Given the description of an element on the screen output the (x, y) to click on. 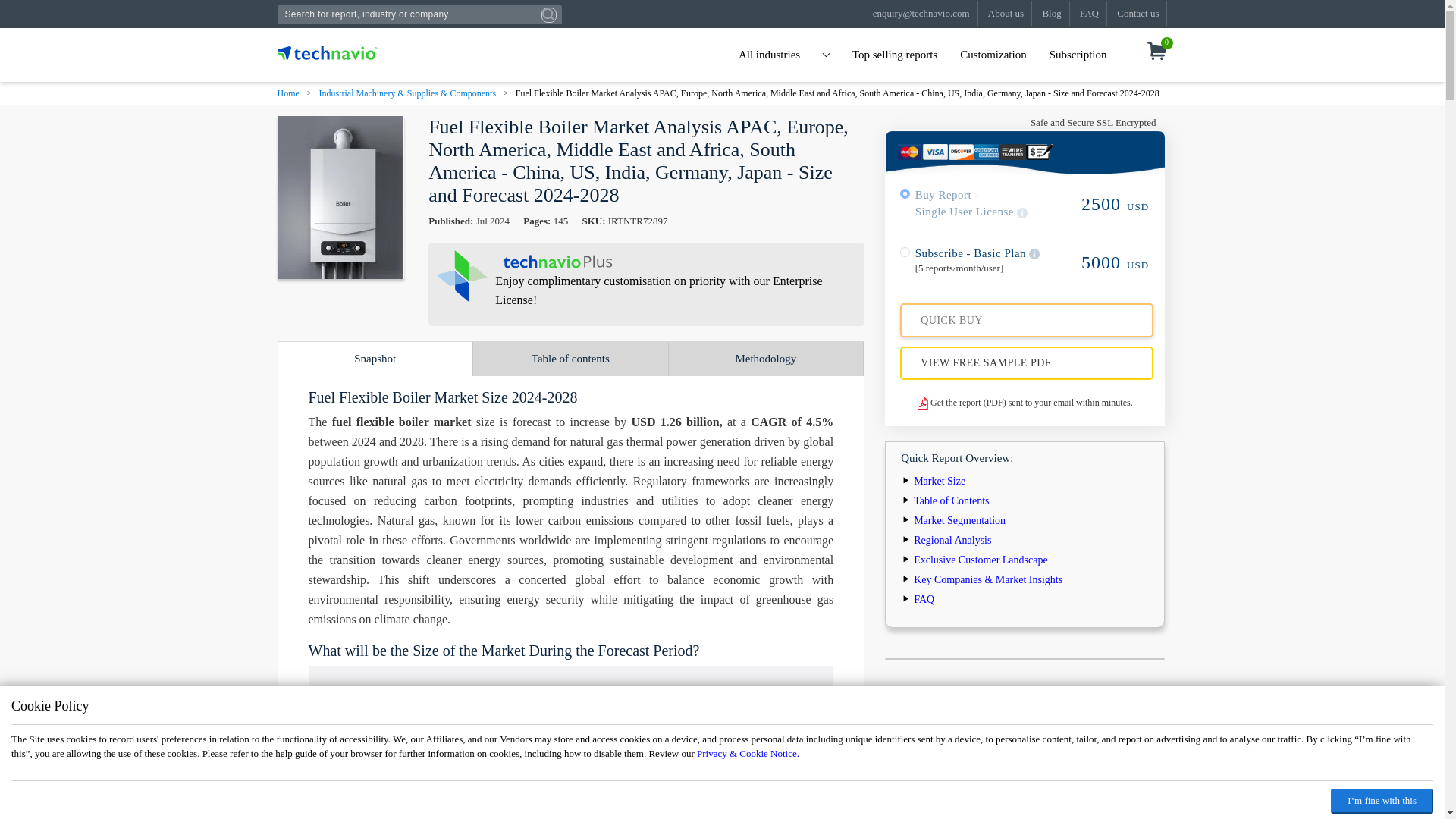
All industries (783, 54)
Top selling reports (894, 54)
About us (1005, 12)
FAQ (1088, 12)
Subscription (1077, 54)
Customization (993, 54)
on (904, 252)
Blog (1050, 12)
All industries (783, 54)
Contact us (1138, 12)
344713 (904, 194)
